Given the description of an element on the screen output the (x, y) to click on. 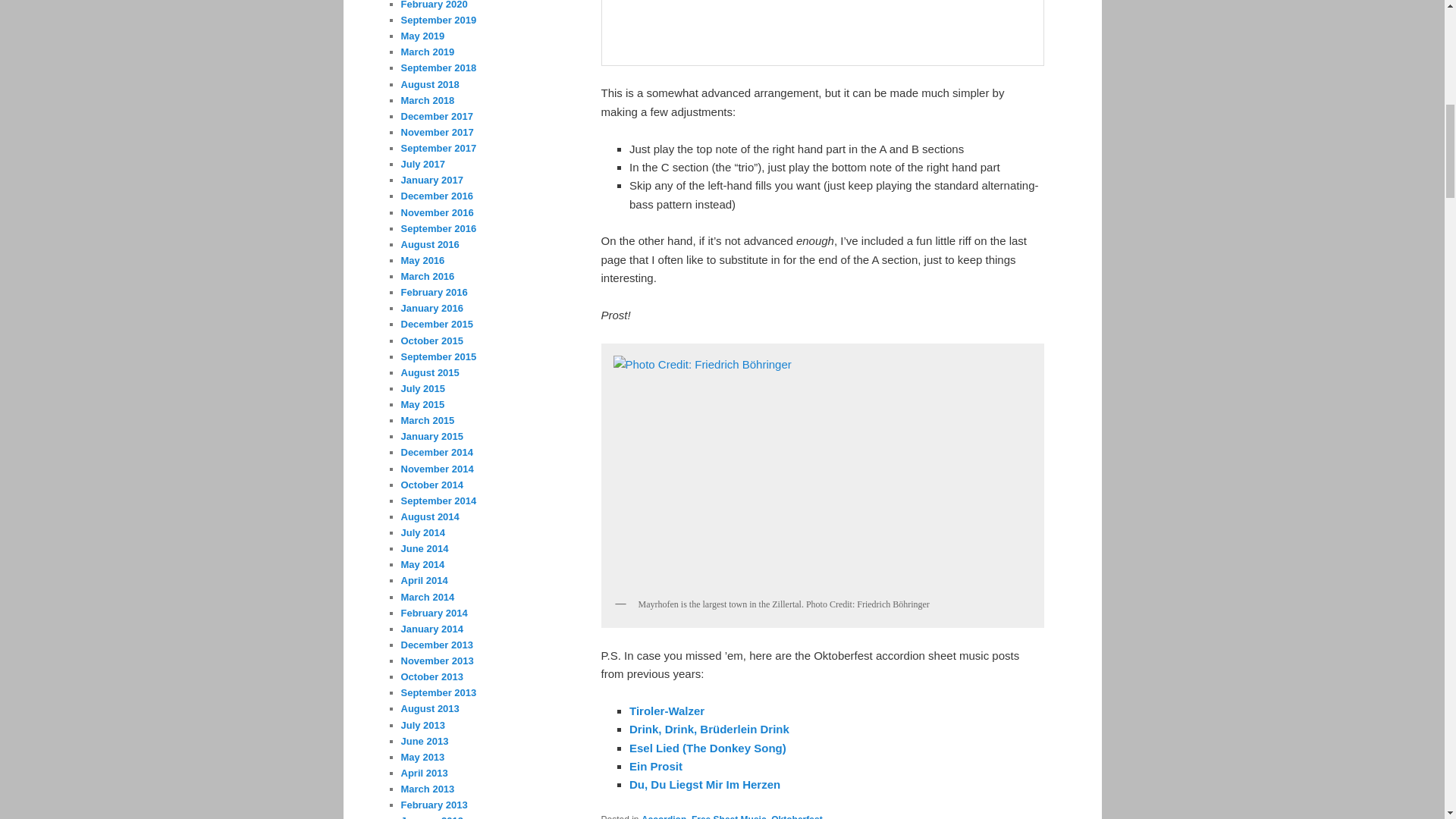
Free Sheet Music (729, 816)
Tiroler-Walzer (666, 710)
Oktoberfest (796, 816)
Ein Prosit (655, 766)
More Free Accordion Sheet Music for Oktoberfest! (655, 766)
Accordion (663, 816)
Du, Du Liegst Mir Im Herzen (704, 784)
Free Accordion Sheet Music for Oktoberfest! (704, 784)
